Given the description of an element on the screen output the (x, y) to click on. 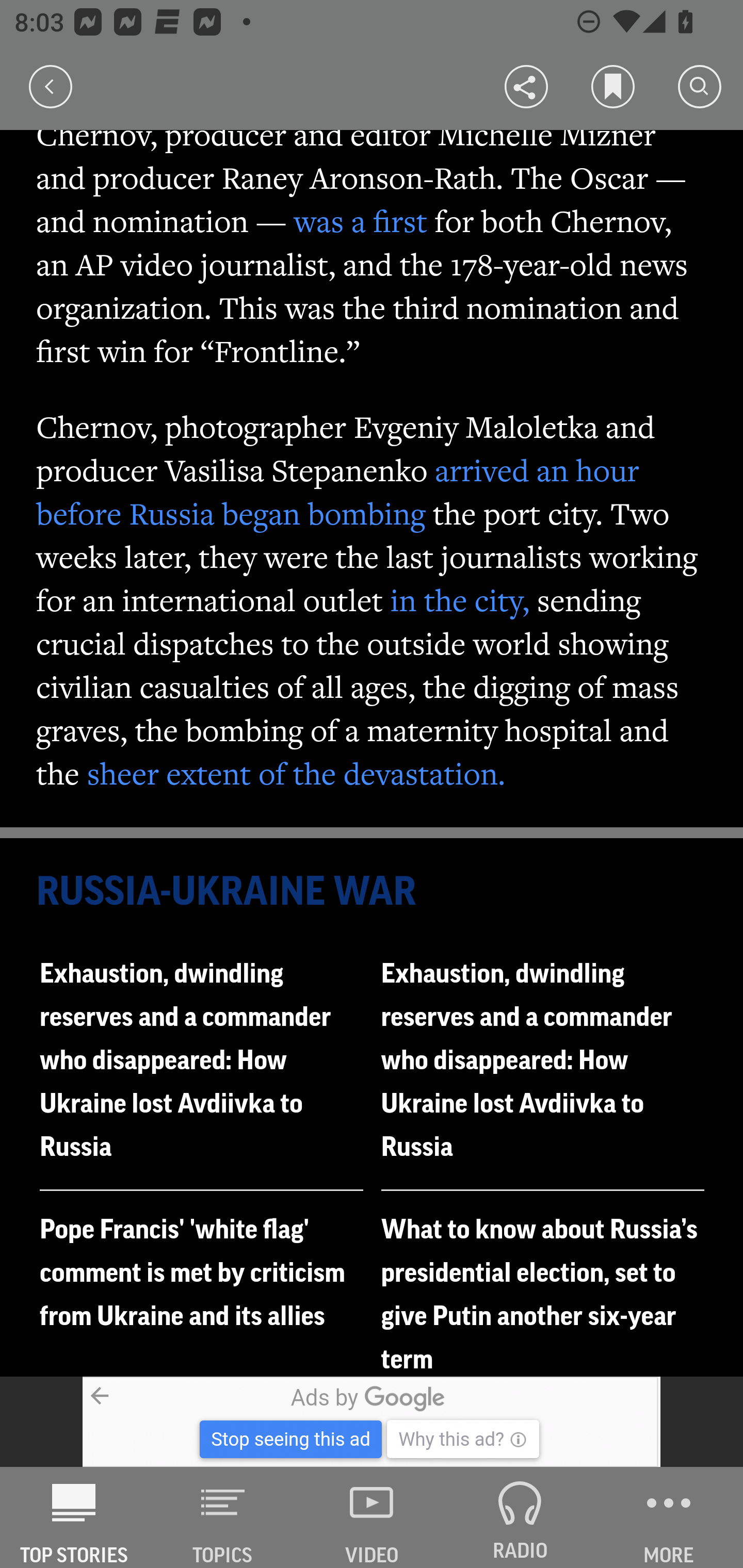
was a first (359, 221)
arrived an hour before Russia began bombing (338, 491)
in the city, (460, 599)
sheer extent of the devastation. (295, 772)
RUSSIA-UKRAINE WAR (372, 891)
AP News TOP STORIES (74, 1517)
TOPICS (222, 1517)
VIDEO (371, 1517)
RADIO (519, 1517)
MORE (668, 1517)
